Given the description of an element on the screen output the (x, y) to click on. 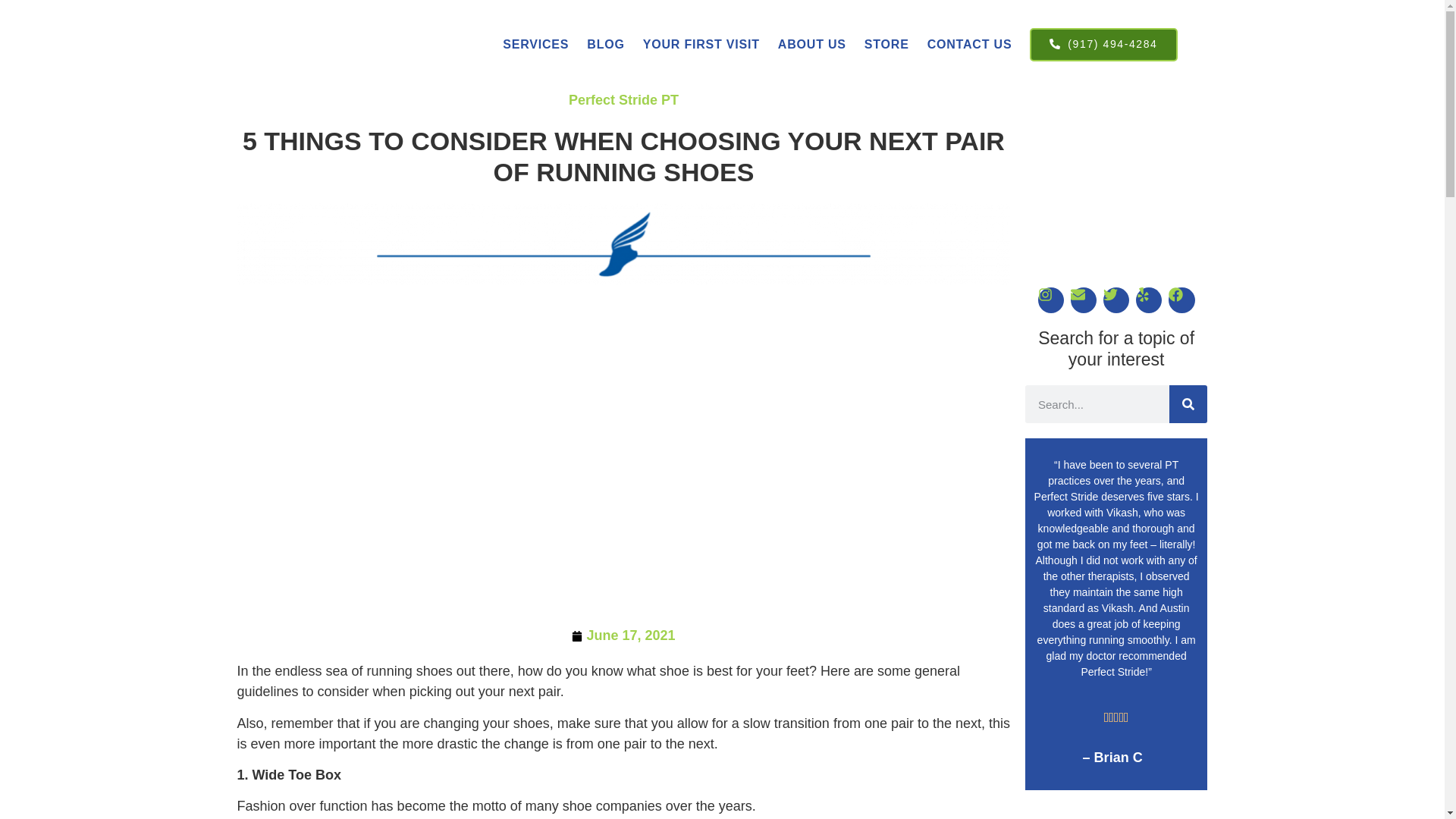
SERVICES (535, 44)
CONTACT US (970, 44)
YOUR FIRST VISIT (700, 44)
STORE (887, 44)
BLOG (605, 44)
ABOUT US (812, 44)
